Given the description of an element on the screen output the (x, y) to click on. 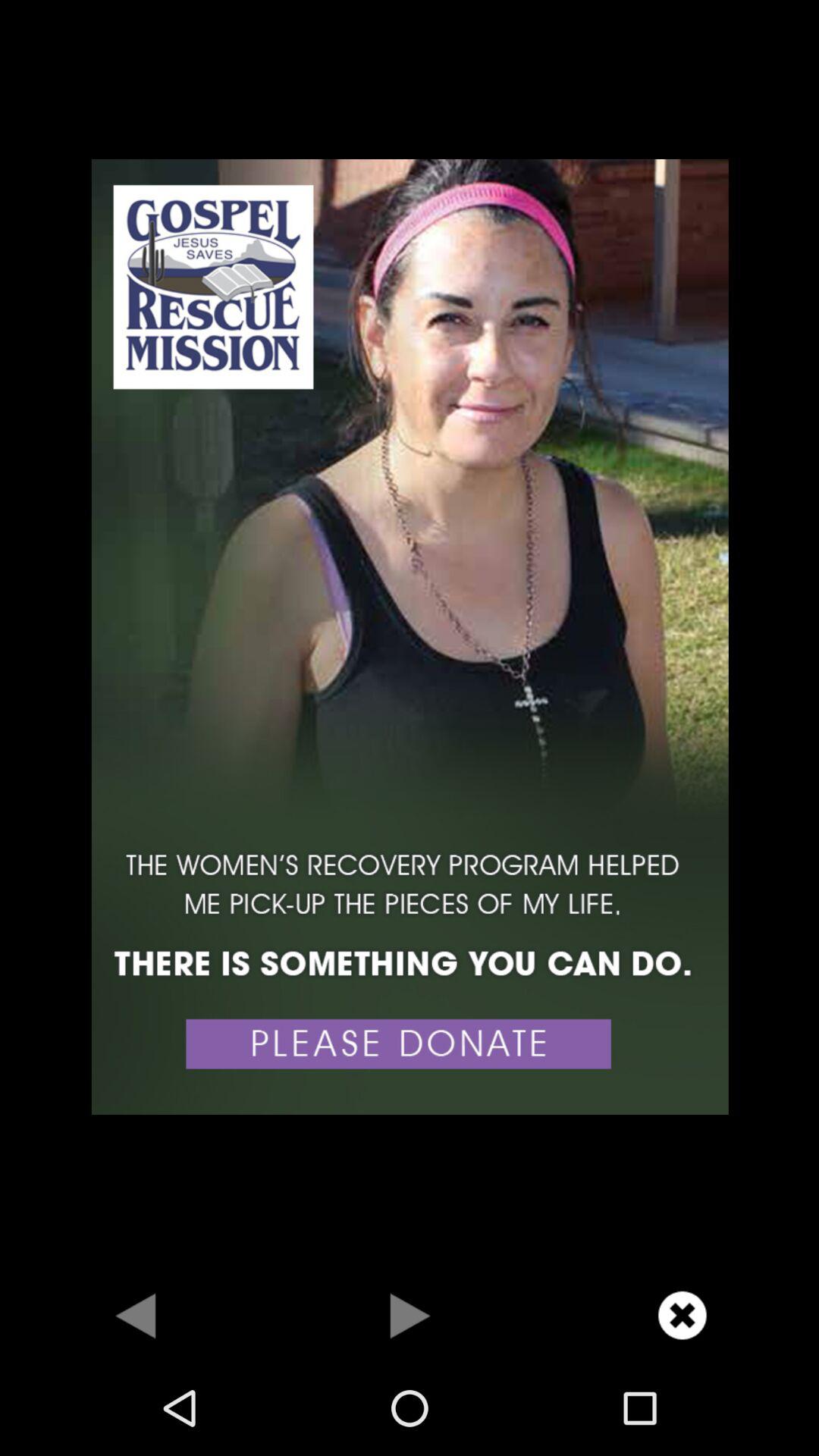
close the article (682, 1315)
